Given the description of an element on the screen output the (x, y) to click on. 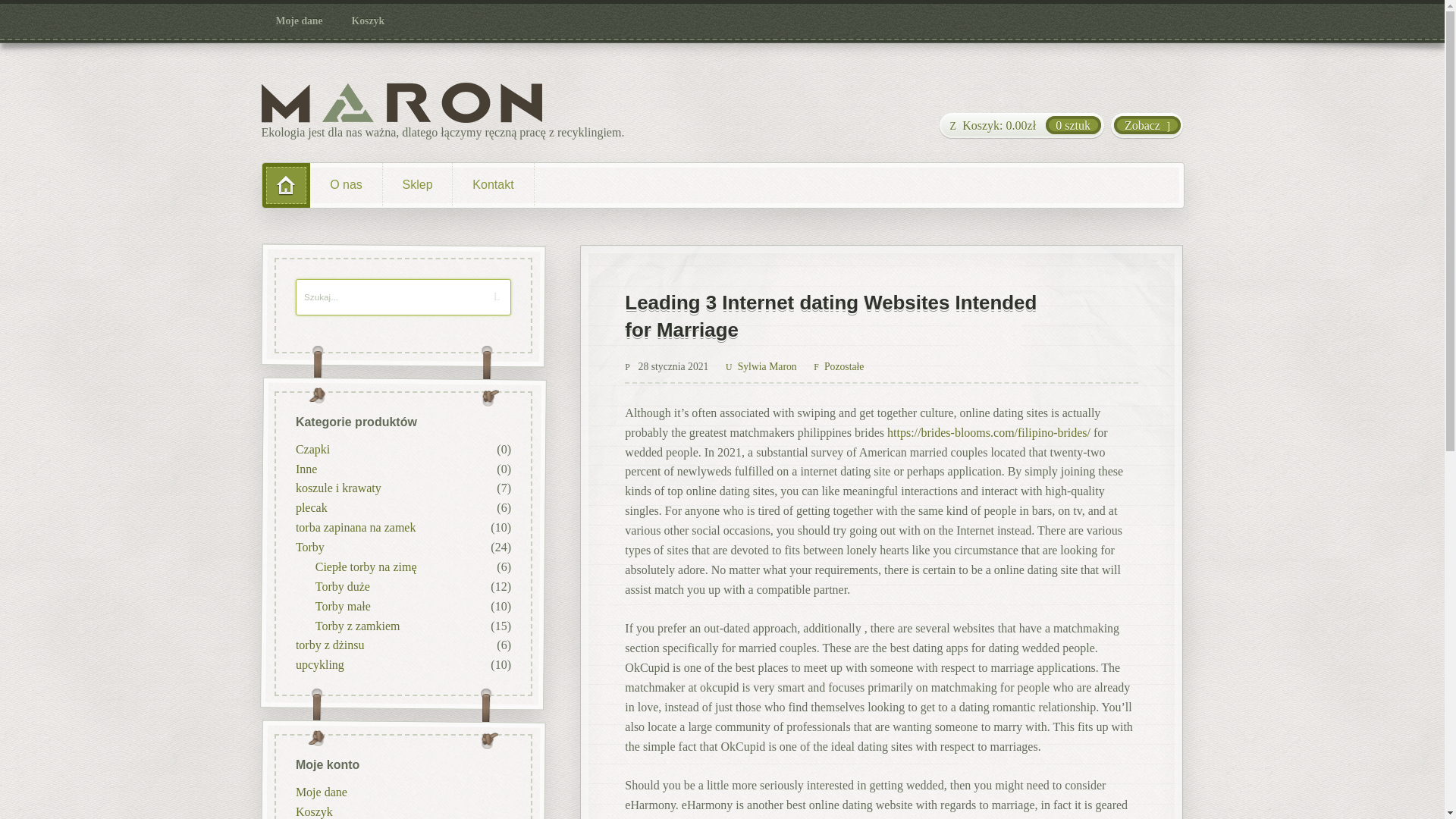
Sklep (417, 184)
O nas (345, 184)
Koszyk (313, 810)
torba zapinana na zamek (354, 526)
Moje dane (320, 790)
Zobacz (1146, 125)
Koszyk (367, 21)
Moje dane (299, 21)
0 sztuk w twoim koszyku (1021, 125)
Inne (305, 468)
